Given the description of an element on the screen output the (x, y) to click on. 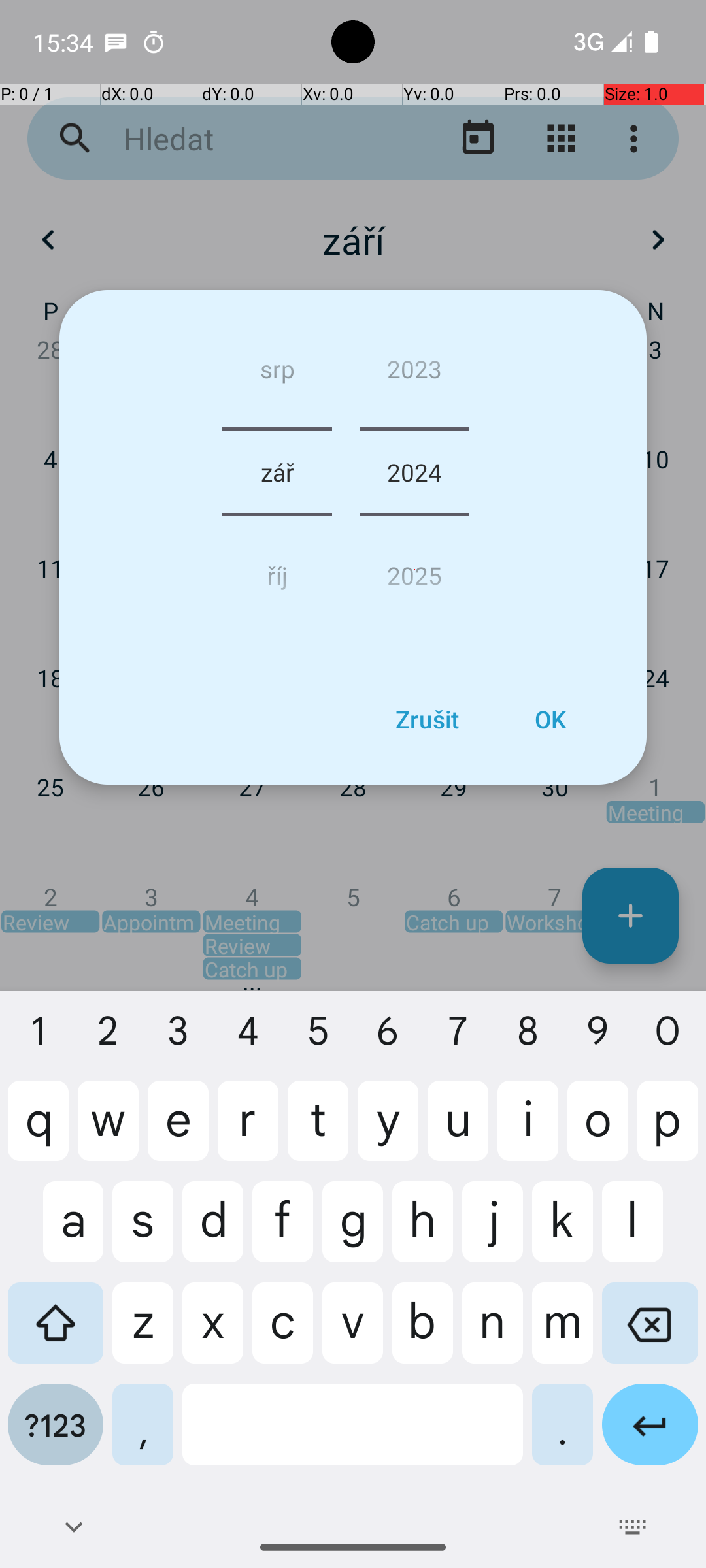
Zrušit Element type: android.widget.Button (426, 719)
srp Element type: android.widget.Button (277, 373)
zář Element type: android.widget.EditText (277, 471)
říj Element type: android.widget.Button (277, 569)
